Given the description of an element on the screen output the (x, y) to click on. 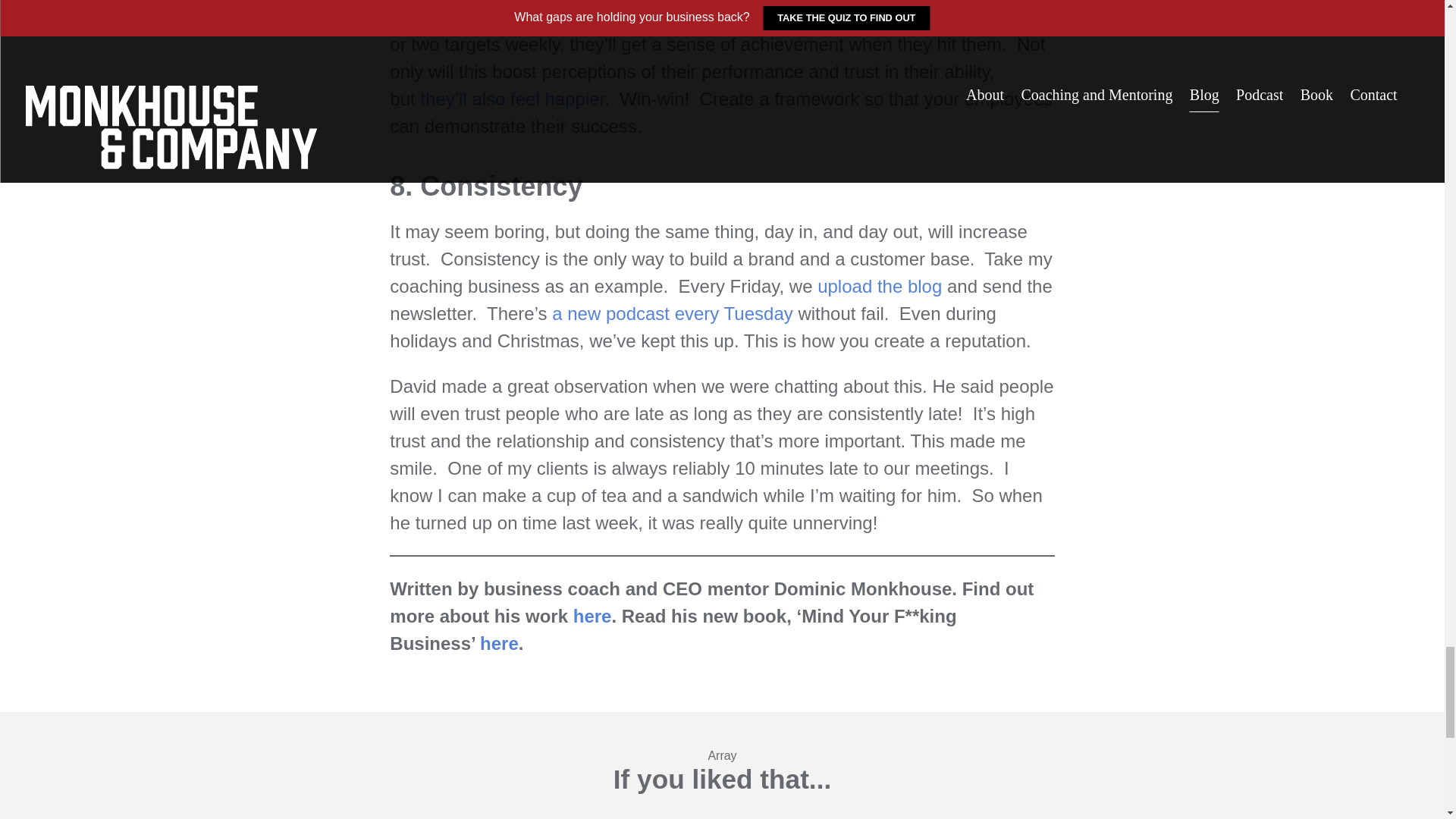
 here (589, 616)
KPIs (512, 16)
a new podcast every Tuesday (672, 313)
OKRs (469, 16)
here (499, 643)
upload the blog  (881, 286)
